Given the description of an element on the screen output the (x, y) to click on. 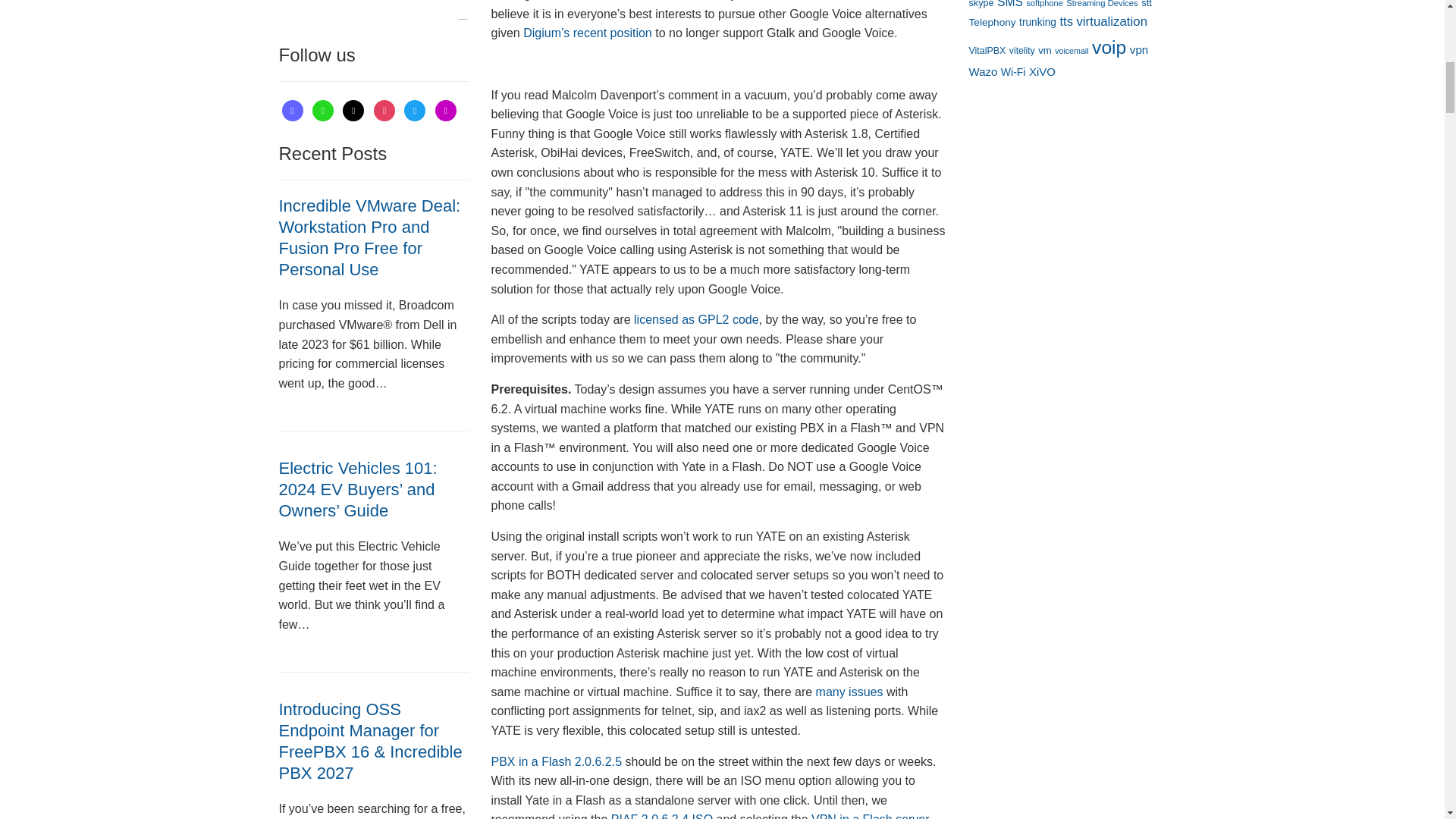
mastodon (292, 109)
instagram (384, 109)
Twitter (414, 109)
Instagram (384, 109)
twitter (414, 109)
help (353, 109)
linkedin (446, 109)
Facebook (446, 109)
website (323, 109)
